Given the description of an element on the screen output the (x, y) to click on. 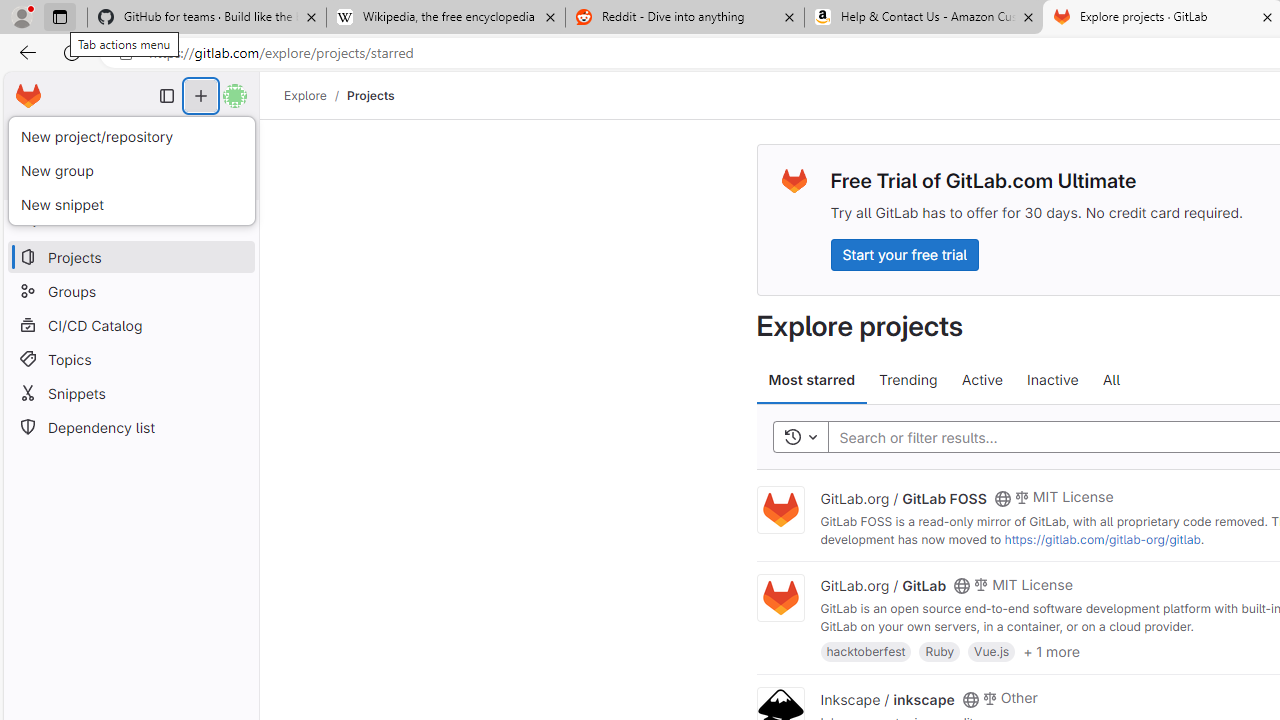
Explore/ (316, 95)
Projects (370, 95)
GitLab.org / GitLab FOSS (903, 497)
Active (982, 379)
Class: s14 gl-mr-2 (989, 696)
New project/repository (131, 137)
To-Do list 0 (212, 136)
New snippet (131, 204)
Groups (130, 291)
Inactive (1052, 379)
Trending (907, 379)
Help & Contact Us - Amazon Customer Service (924, 17)
Reddit - Dive into anything (684, 17)
Skip to main content (23, 87)
